Given the description of an element on the screen output the (x, y) to click on. 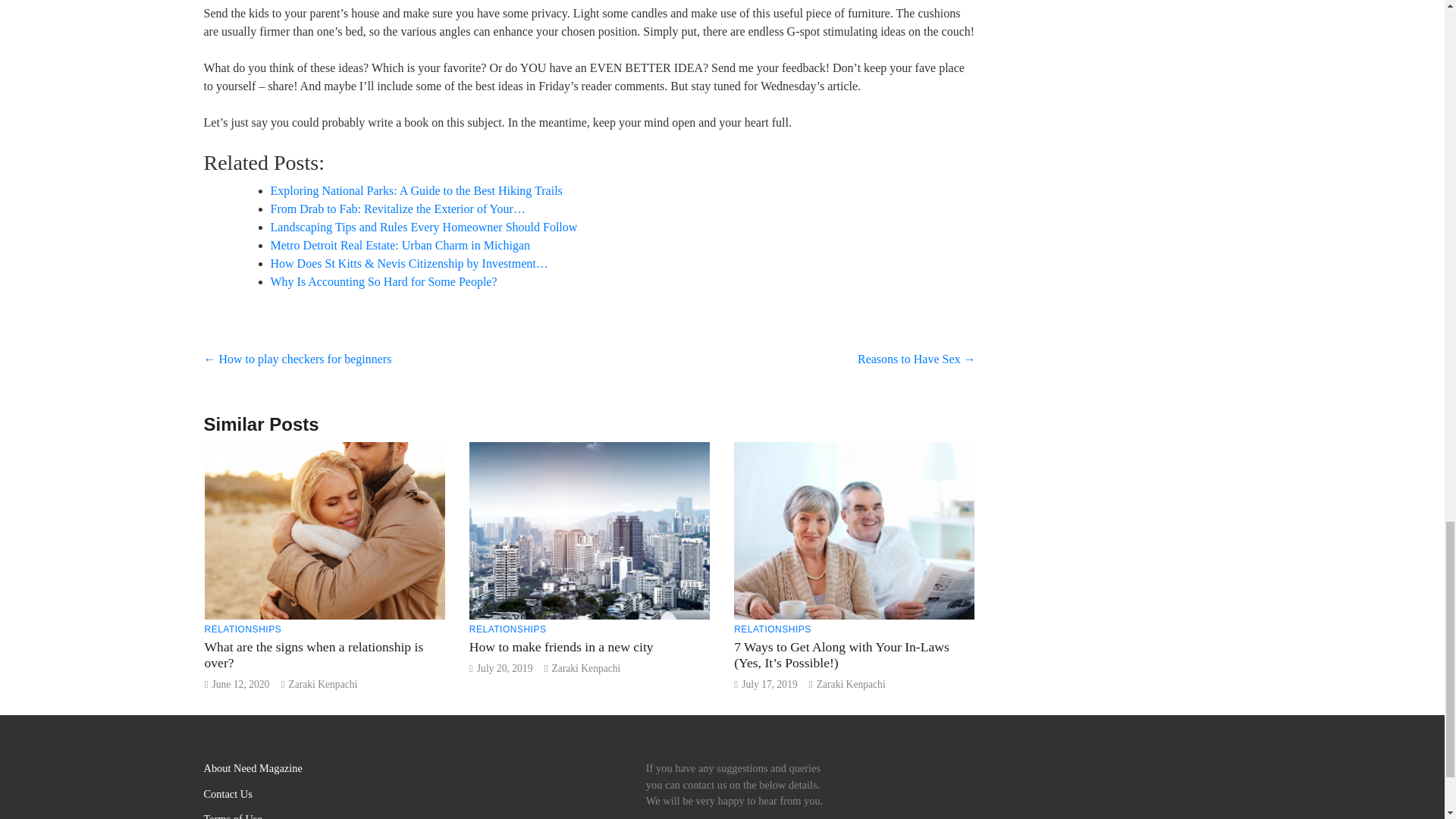
Metro Detroit Real Estate: Urban Charm in Michigan (399, 245)
Landscaping Tips and Rules Every Homeowner Should Follow (422, 226)
Exploring National Parks: A Guide to the Best Hiking Trails (415, 190)
